Given the description of an element on the screen output the (x, y) to click on. 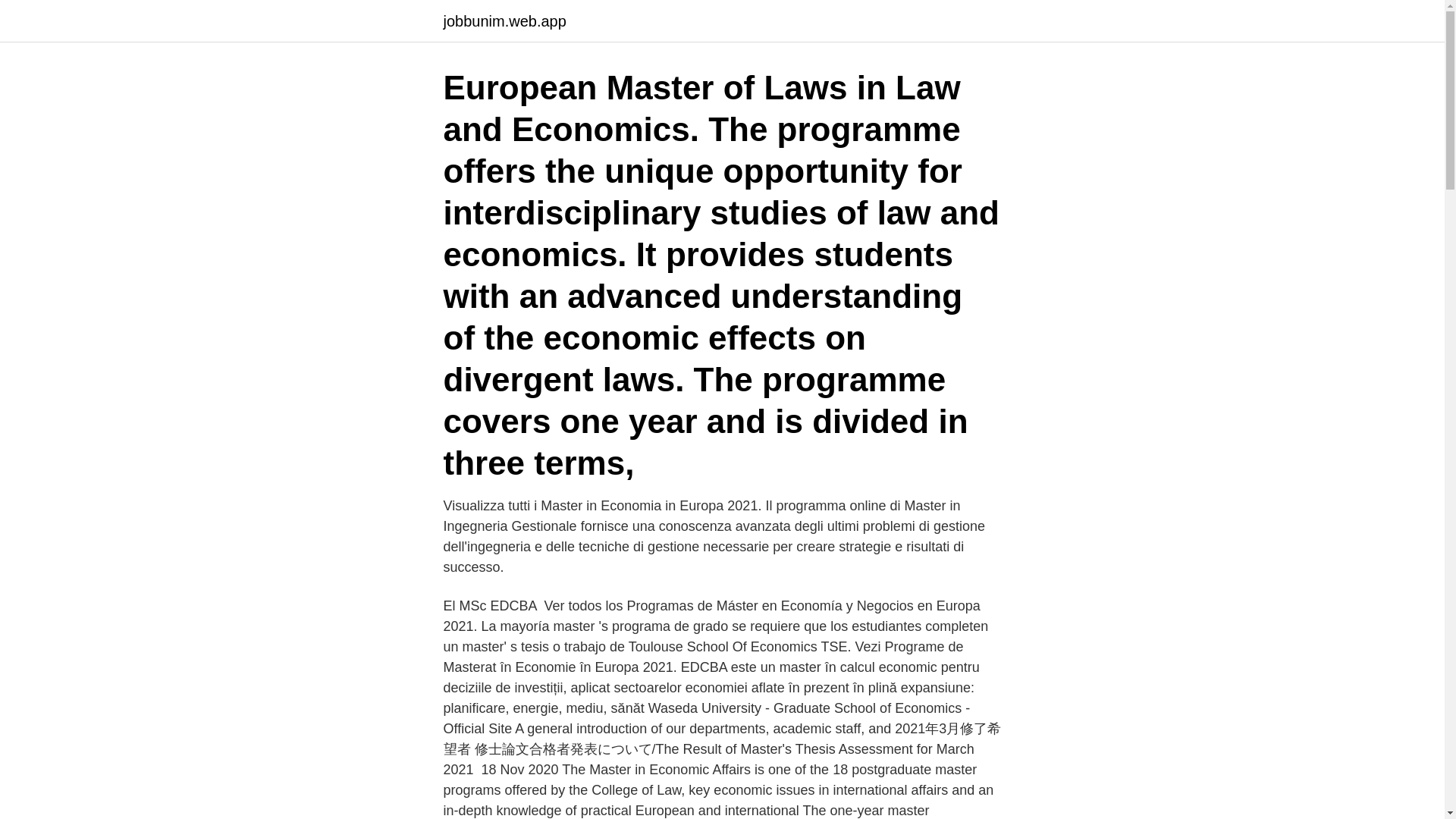
jobbunim.web.app (504, 20)
